Given the description of an element on the screen output the (x, y) to click on. 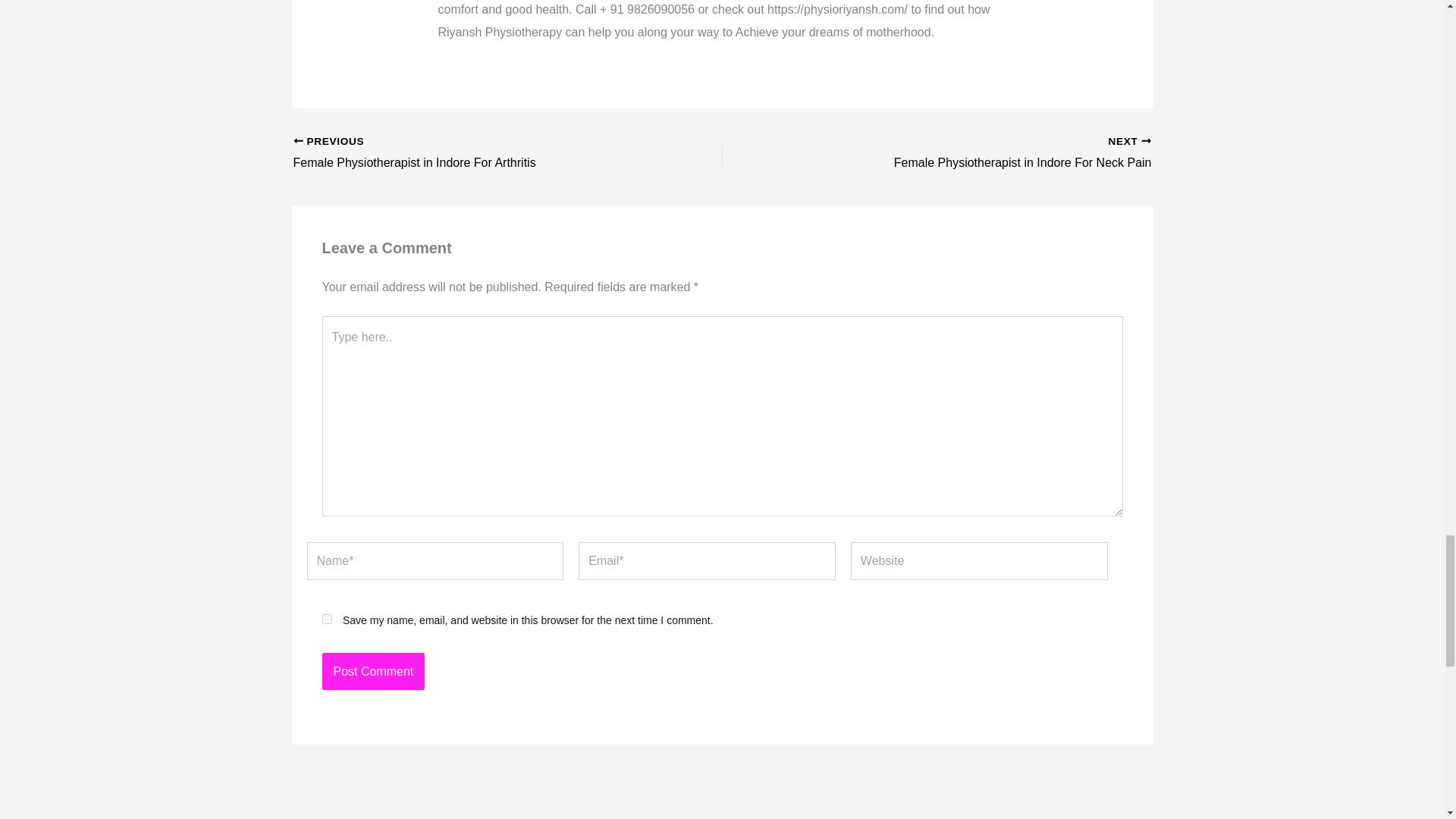
Female Physiotherapist in Indore For Arthritis (464, 153)
Post Comment (373, 671)
Post Comment (464, 153)
Female Physiotherapist in Indore For Neck Pain (373, 671)
yes (978, 153)
